Given the description of an element on the screen output the (x, y) to click on. 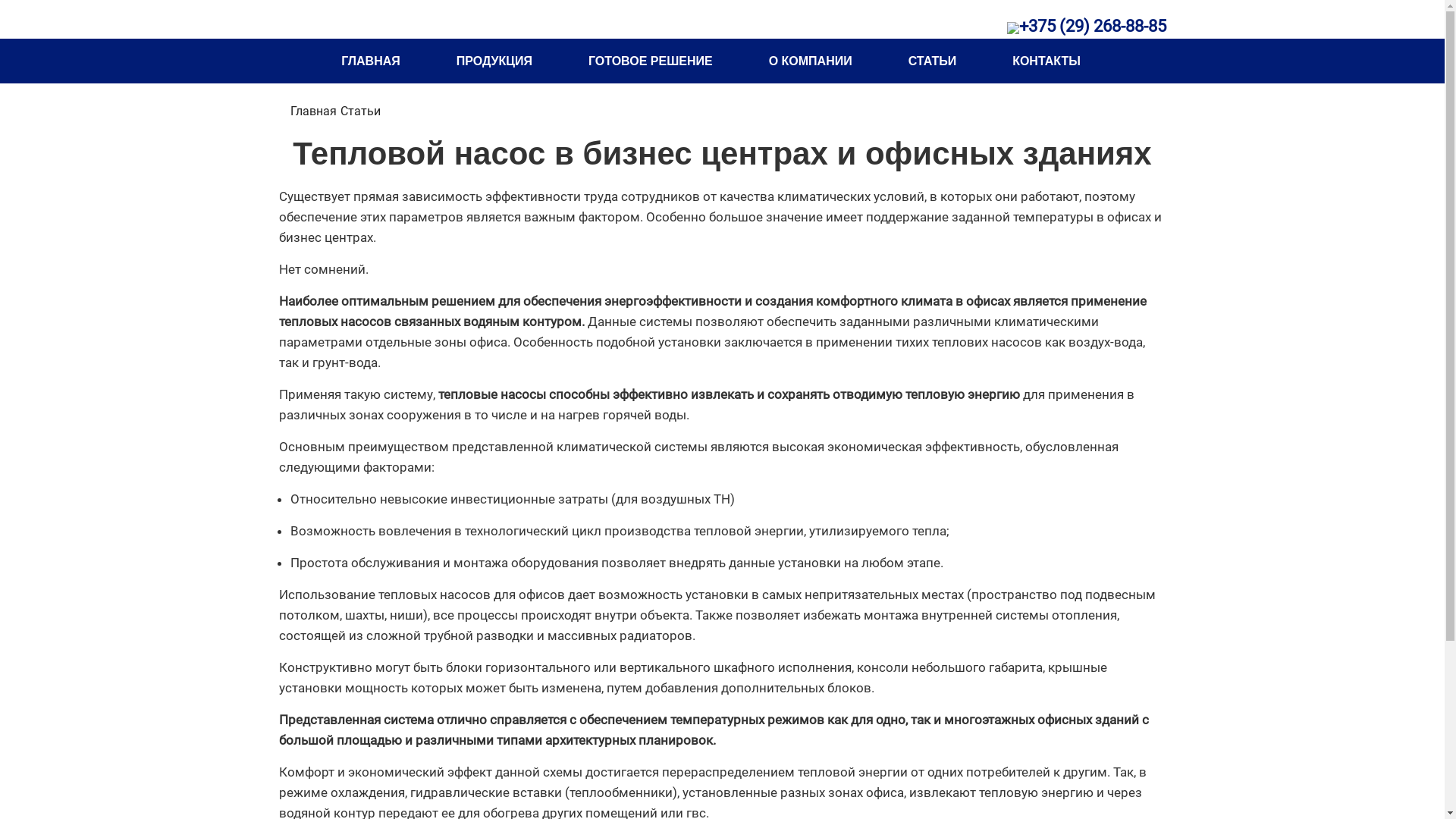
+375 (29) 268-88-85 Element type: text (1092, 25)
